Given the description of an element on the screen output the (x, y) to click on. 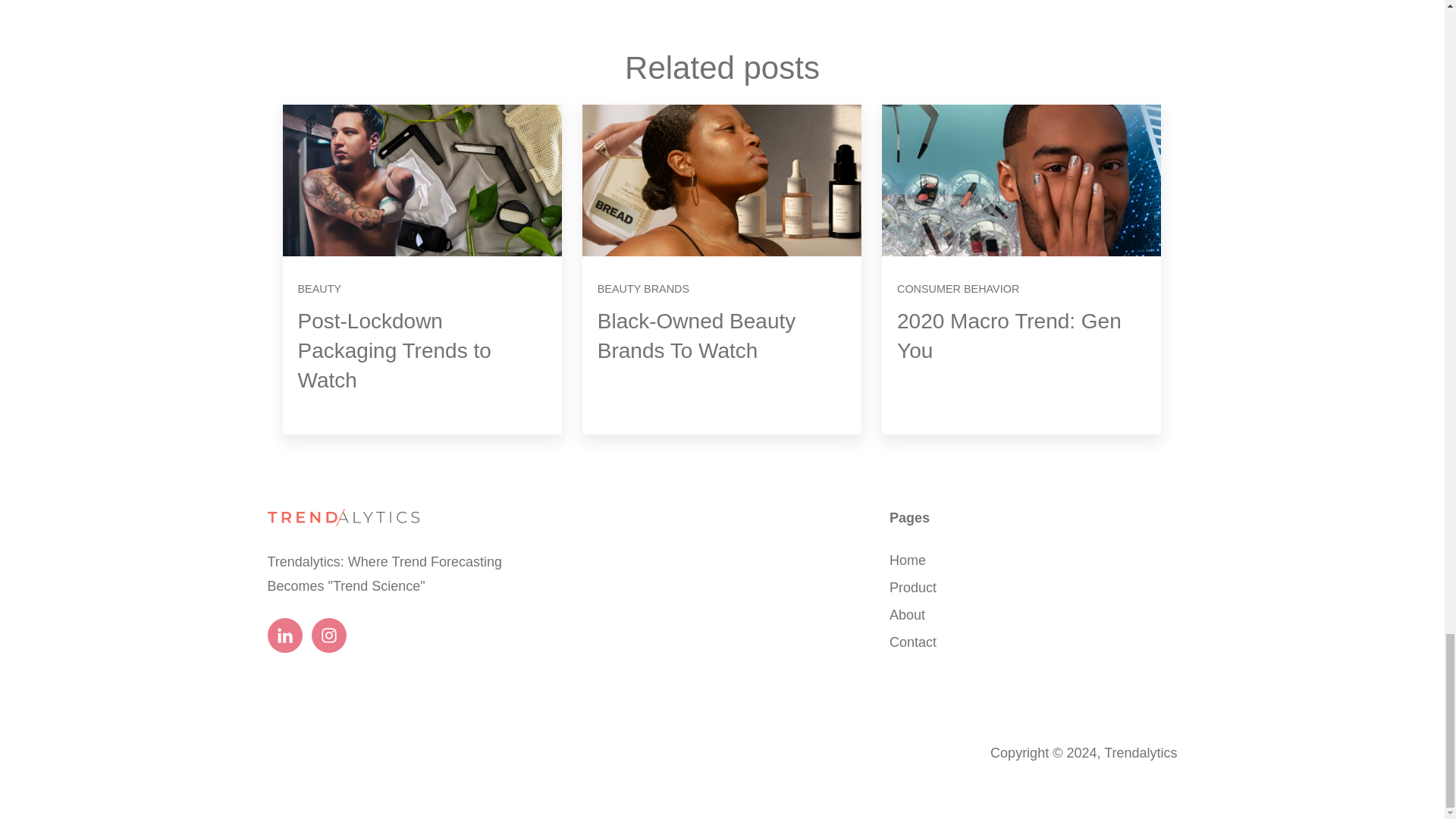
BEAUTY (318, 288)
2020 Macro Trend: Gen You (1008, 335)
CONSUMER BEHAVIOR (957, 288)
trendalytics logo (342, 517)
BEAUTY BRANDS (642, 288)
Post-Lockdown Packaging Trends to Watch (393, 350)
Black-Owned Beauty Brands To Watch (695, 335)
